Given the description of an element on the screen output the (x, y) to click on. 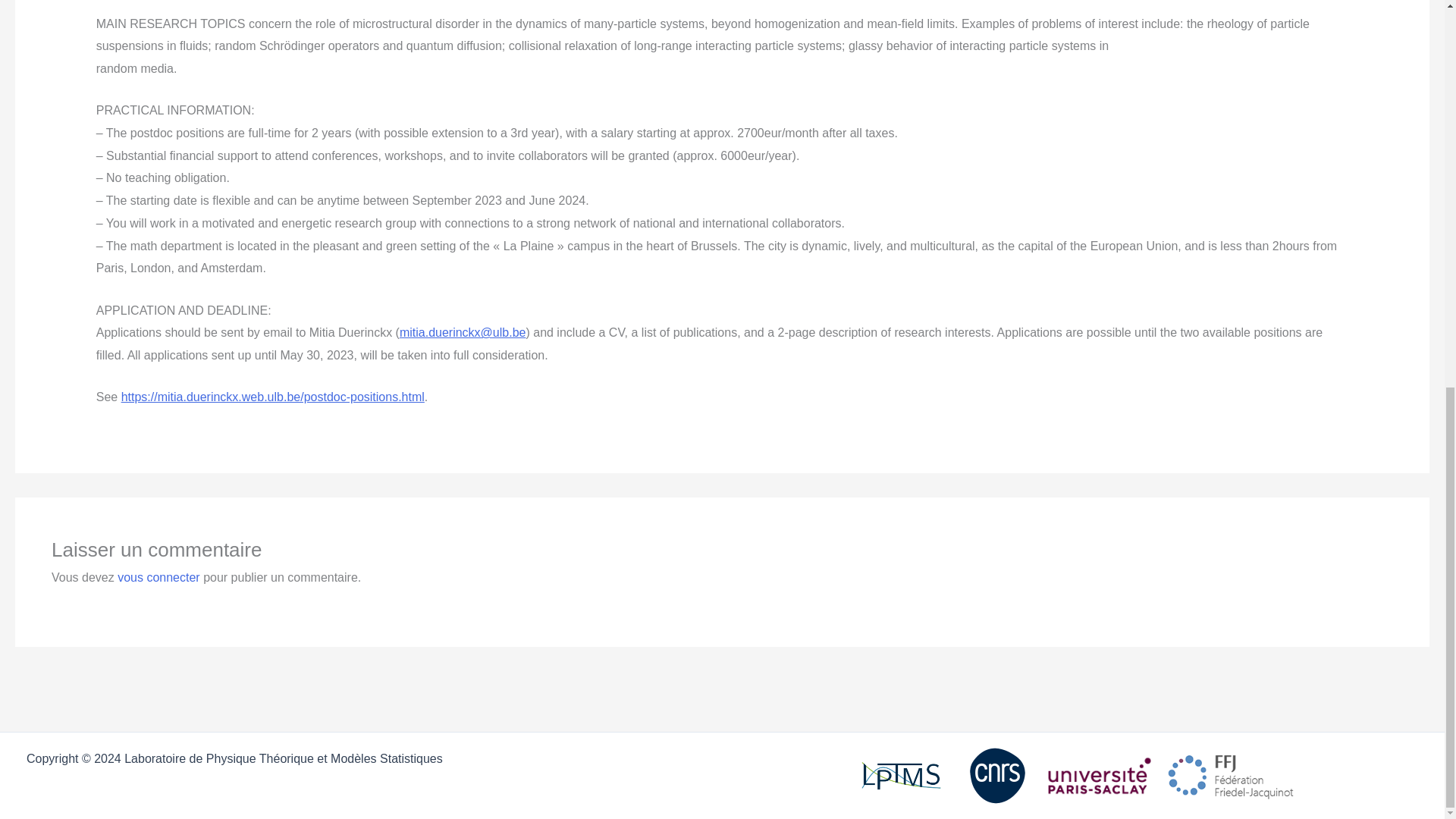
vous connecter (158, 576)
